Given the description of an element on the screen output the (x, y) to click on. 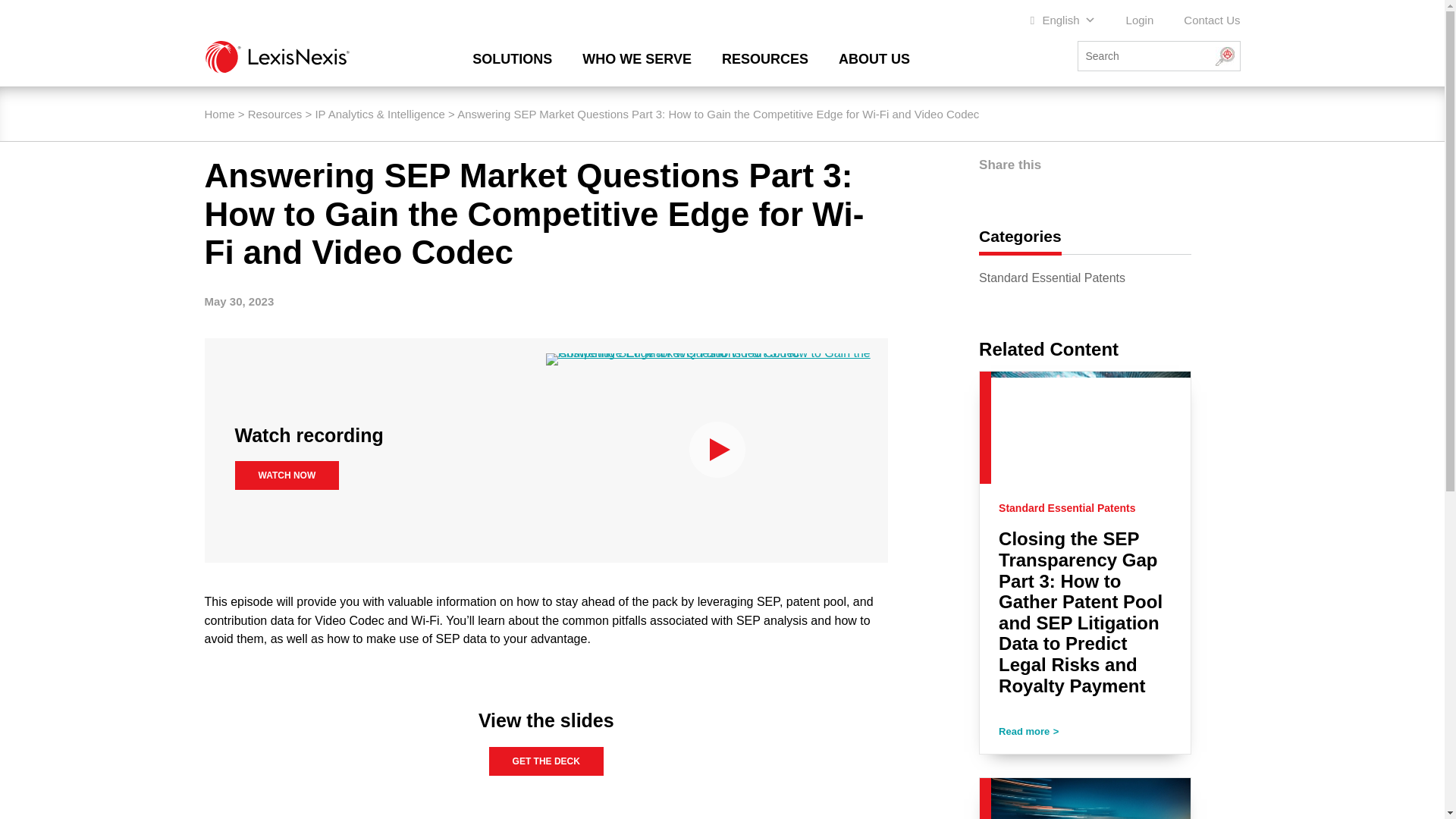
WHO WE SERVE (636, 58)
RESOURCES (765, 58)
Contact Us (1211, 20)
SOLUTIONS (511, 58)
English (1063, 20)
Login (1139, 20)
English (1063, 20)
